Given the description of an element on the screen output the (x, y) to click on. 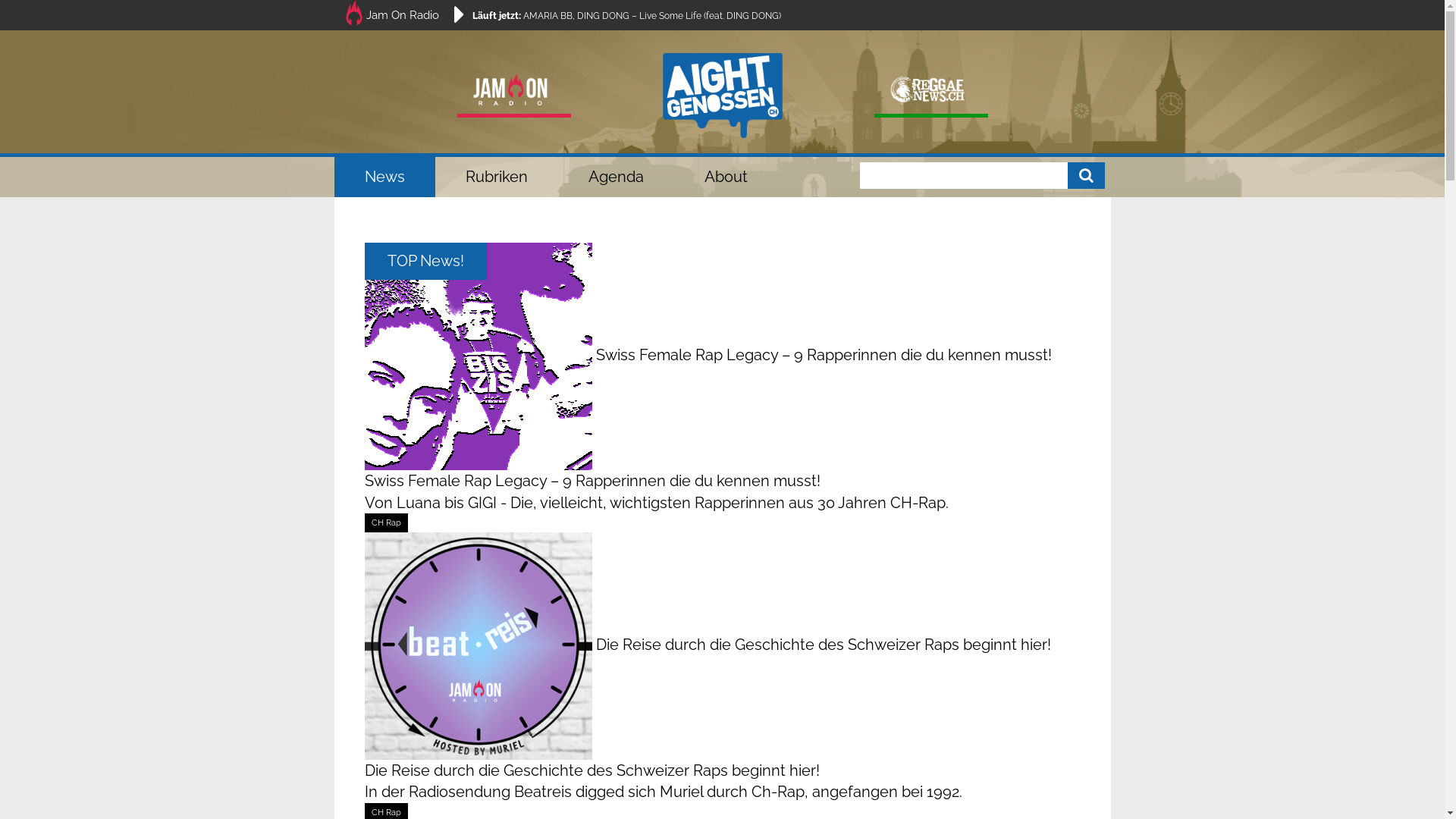
Rubriken Element type: text (496, 176)
News Element type: text (383, 176)
About Element type: text (725, 176)
Agenda Element type: text (616, 176)
